Given the description of an element on the screen output the (x, y) to click on. 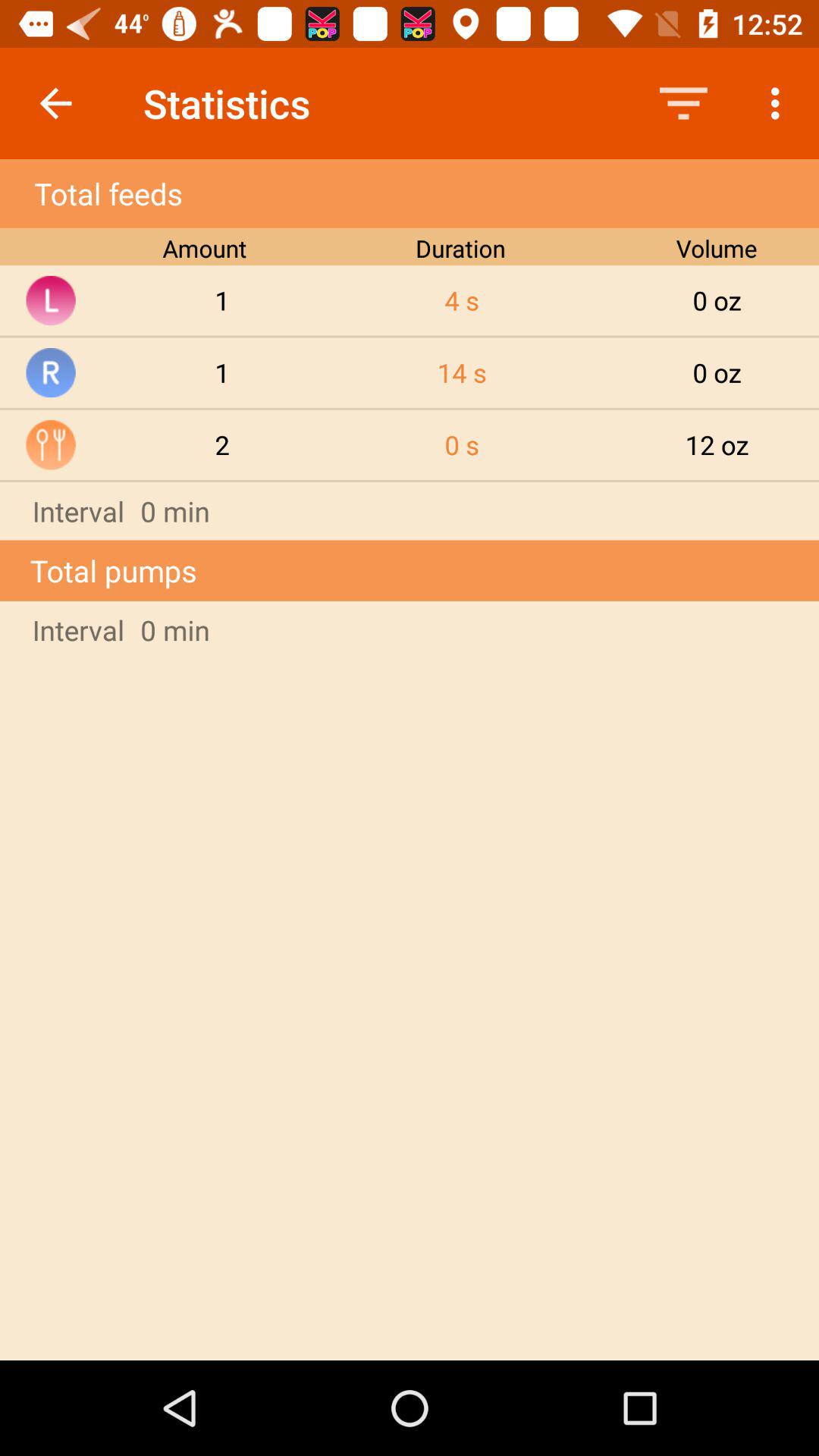
select icon above volume icon (683, 103)
